Given the description of an element on the screen output the (x, y) to click on. 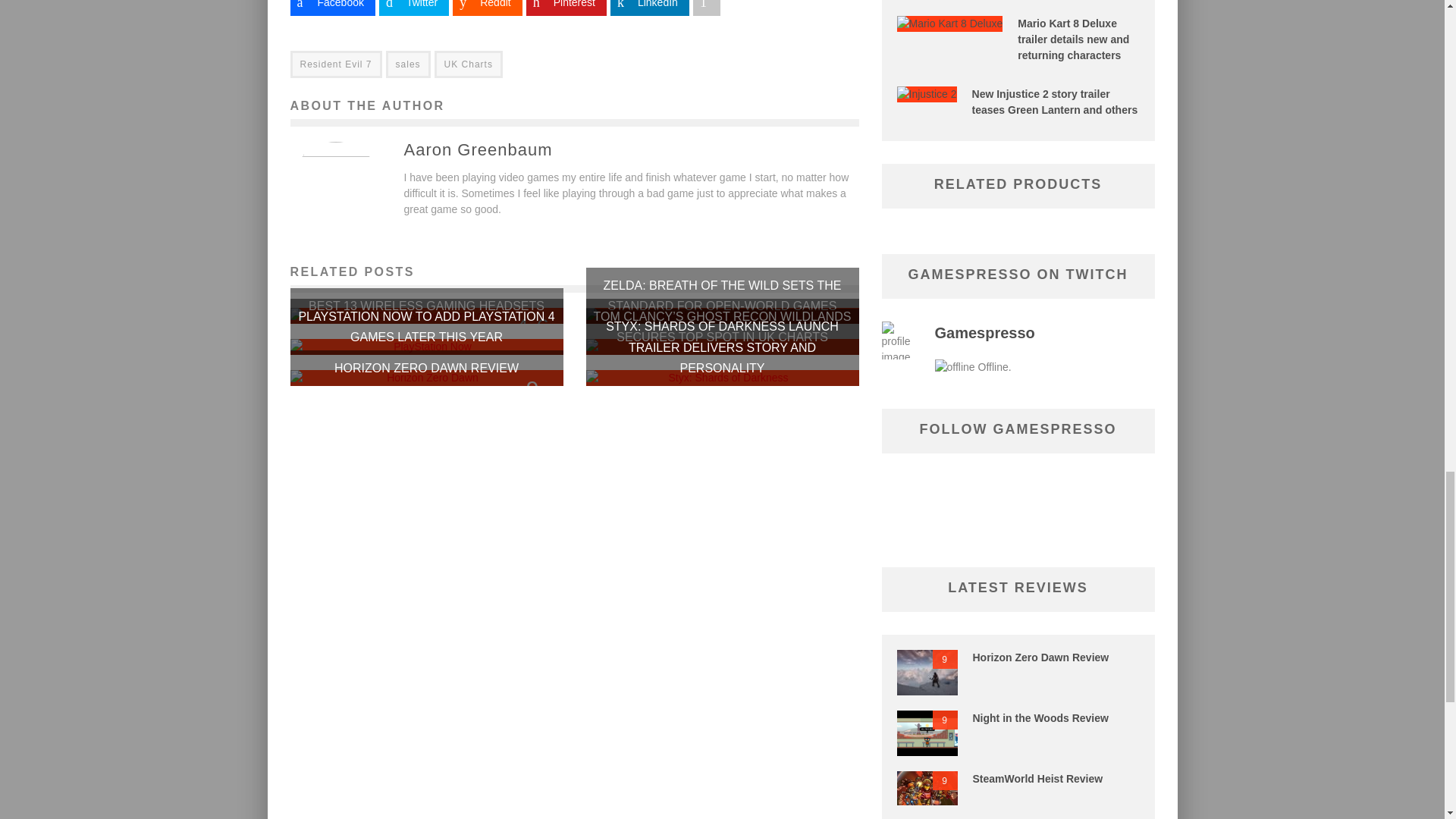
Share on LinkedIn (649, 7)
Share on Pinterest (566, 7)
Share on More Button (706, 7)
Share on Facebook (331, 7)
Share on Twitter (413, 7)
Share on Reddit (486, 7)
